Given the description of an element on the screen output the (x, y) to click on. 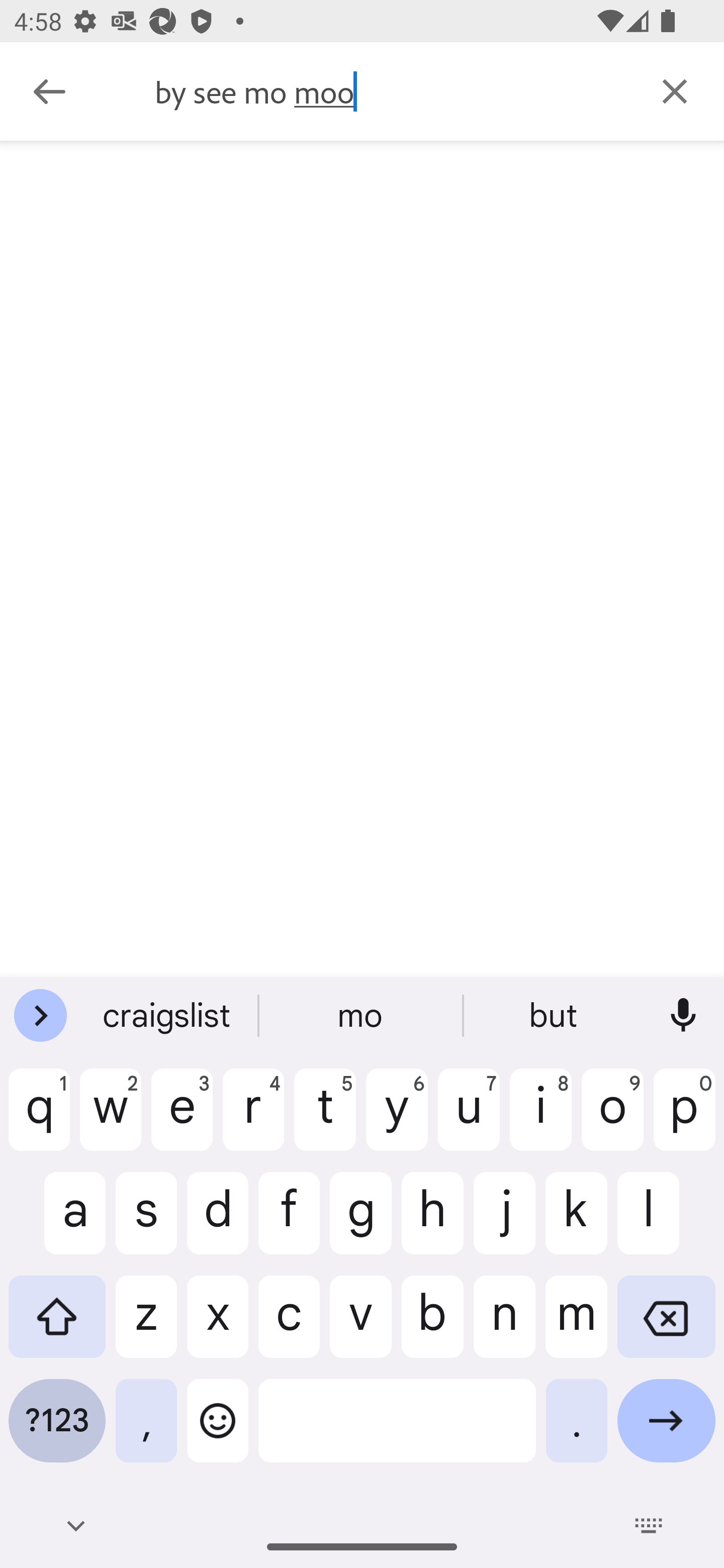
Navigate up (49, 91)
Clear query (674, 90)
by see mo moo (389, 91)
